Given the description of an element on the screen output the (x, y) to click on. 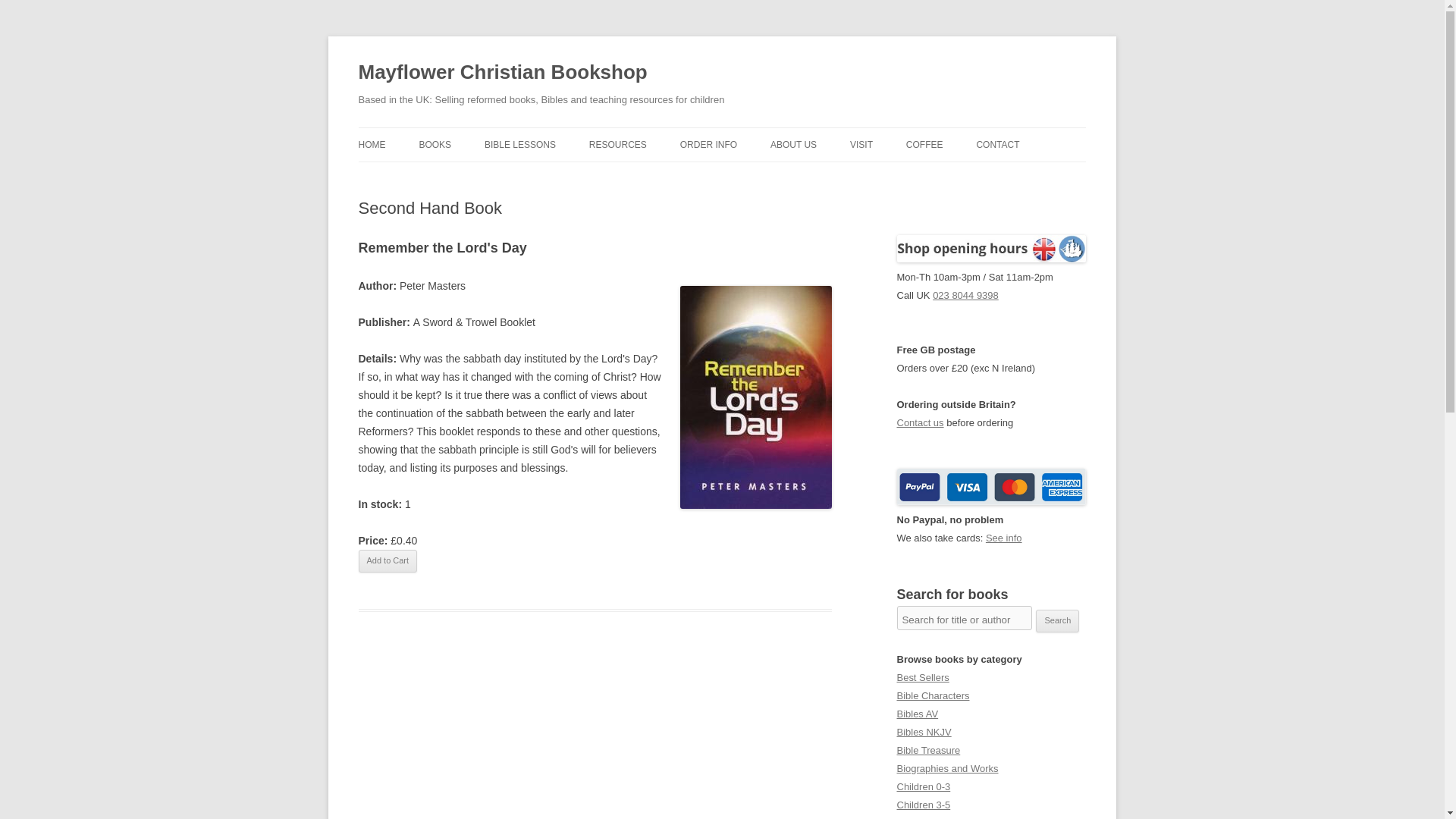
Contact us (919, 422)
ABOUT US (793, 144)
BIBLE LESSONS (520, 144)
023 8044 9398 (965, 295)
Search (1056, 620)
Add to Cart (387, 560)
Mayflower Christian Bookshop (502, 72)
BOOKS (435, 144)
ORDER INFO (707, 144)
CONTACT (997, 144)
RESOURCES (617, 144)
COFFEE (924, 144)
SEARCH FOR BOOKS (494, 176)
